Given the description of an element on the screen output the (x, y) to click on. 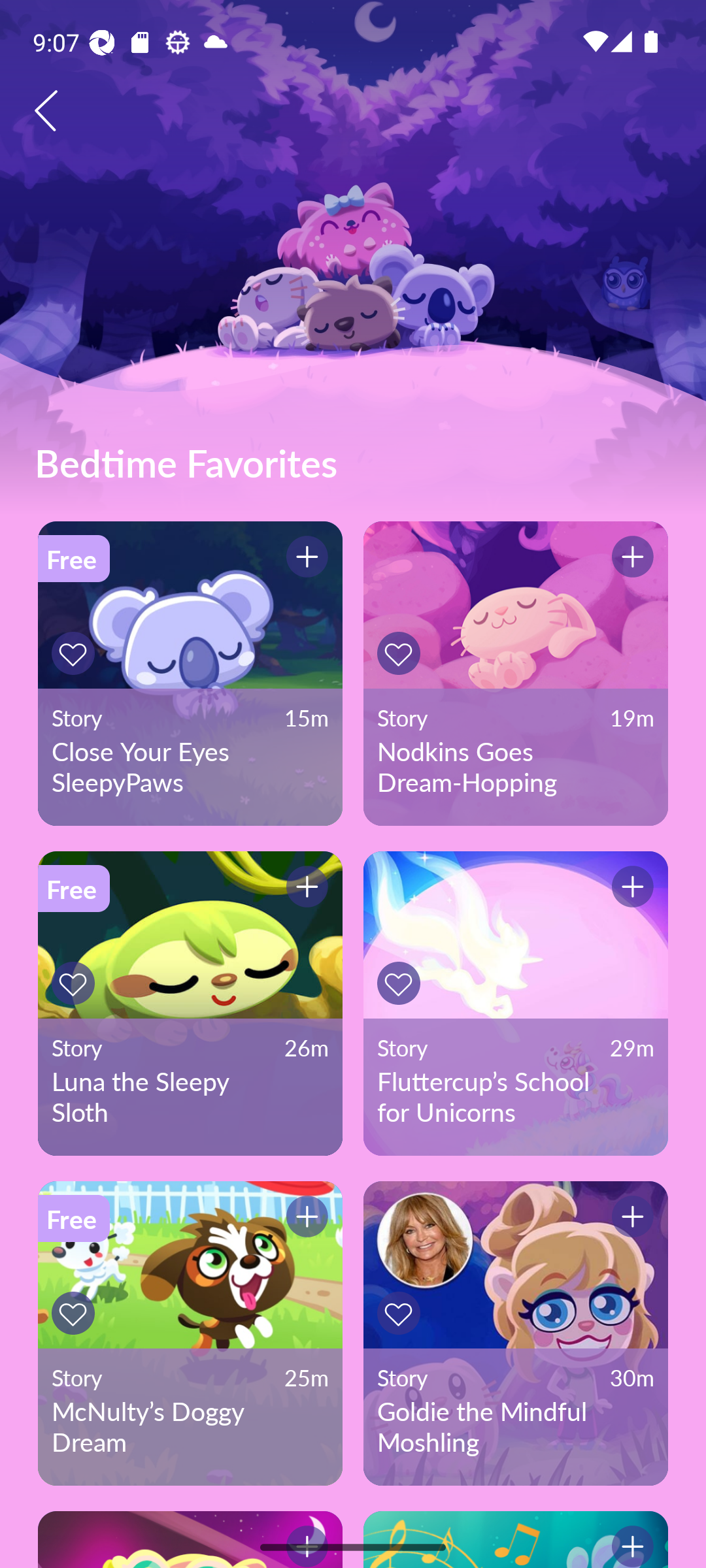
Button (304, 558)
Button (629, 558)
Button (76, 652)
Button (401, 652)
Button (304, 889)
Button (629, 889)
Button (76, 982)
Button (401, 982)
Button (304, 1218)
Button (629, 1218)
Button (76, 1312)
Button (401, 1312)
Button (629, 1539)
